Given the description of an element on the screen output the (x, y) to click on. 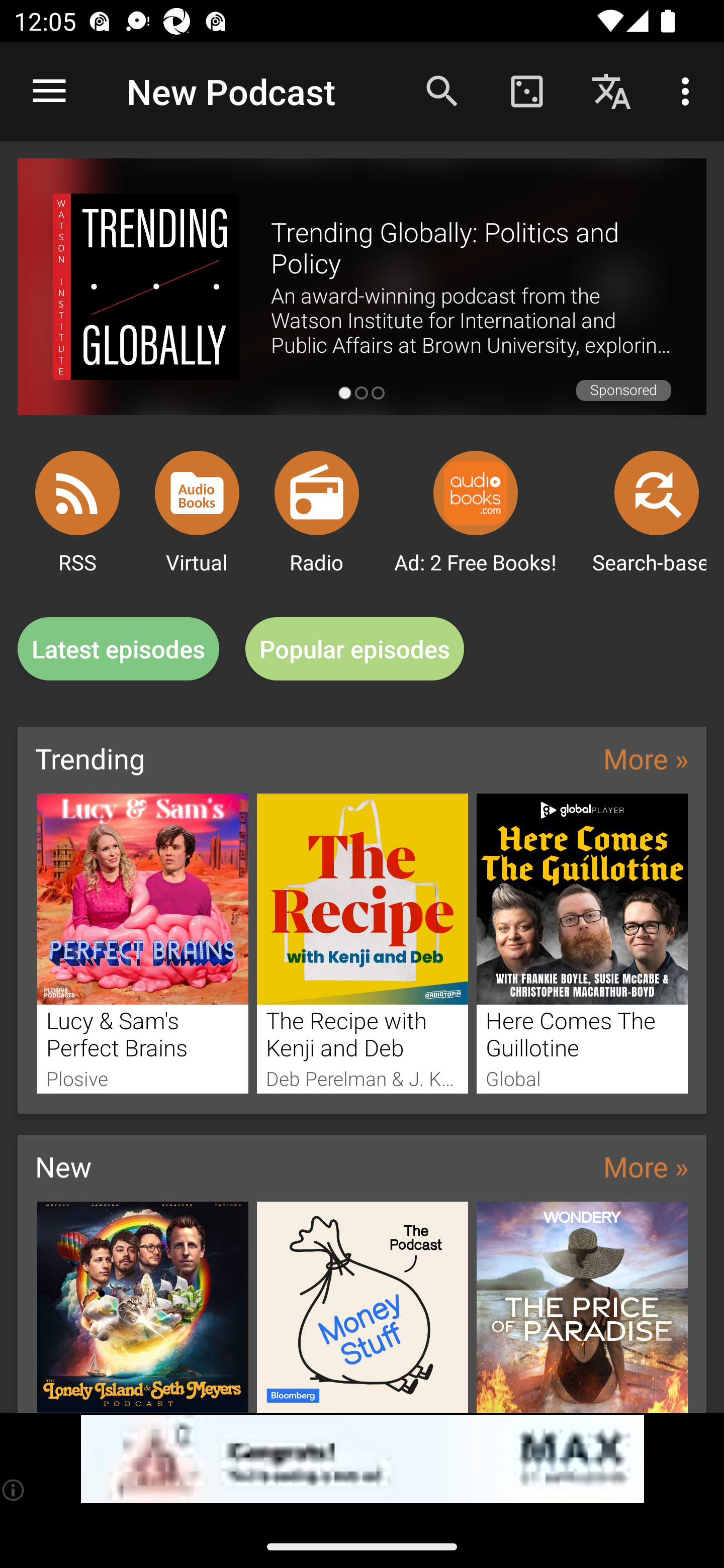
Open navigation sidebar (49, 91)
Search (442, 90)
Random pick (526, 90)
Podcast languages (611, 90)
More options (688, 90)
RSS (77, 492)
Virtual (196, 492)
Radio (316, 492)
Search-based (656, 492)
Latest episodes (118, 648)
Popular episodes (354, 648)
More » (645, 757)
Lucy & Sam's Perfect Brains Plosive (142, 942)
Here Comes The Guillotine Global (581, 942)
More » (645, 1166)
The Lonely Island and Seth Meyers Podcast (142, 1306)
Money Stuff: The Podcast (362, 1306)
The Price of Paradise (581, 1306)
app-monetization (362, 1459)
(i) (14, 1489)
